Given the description of an element on the screen output the (x, y) to click on. 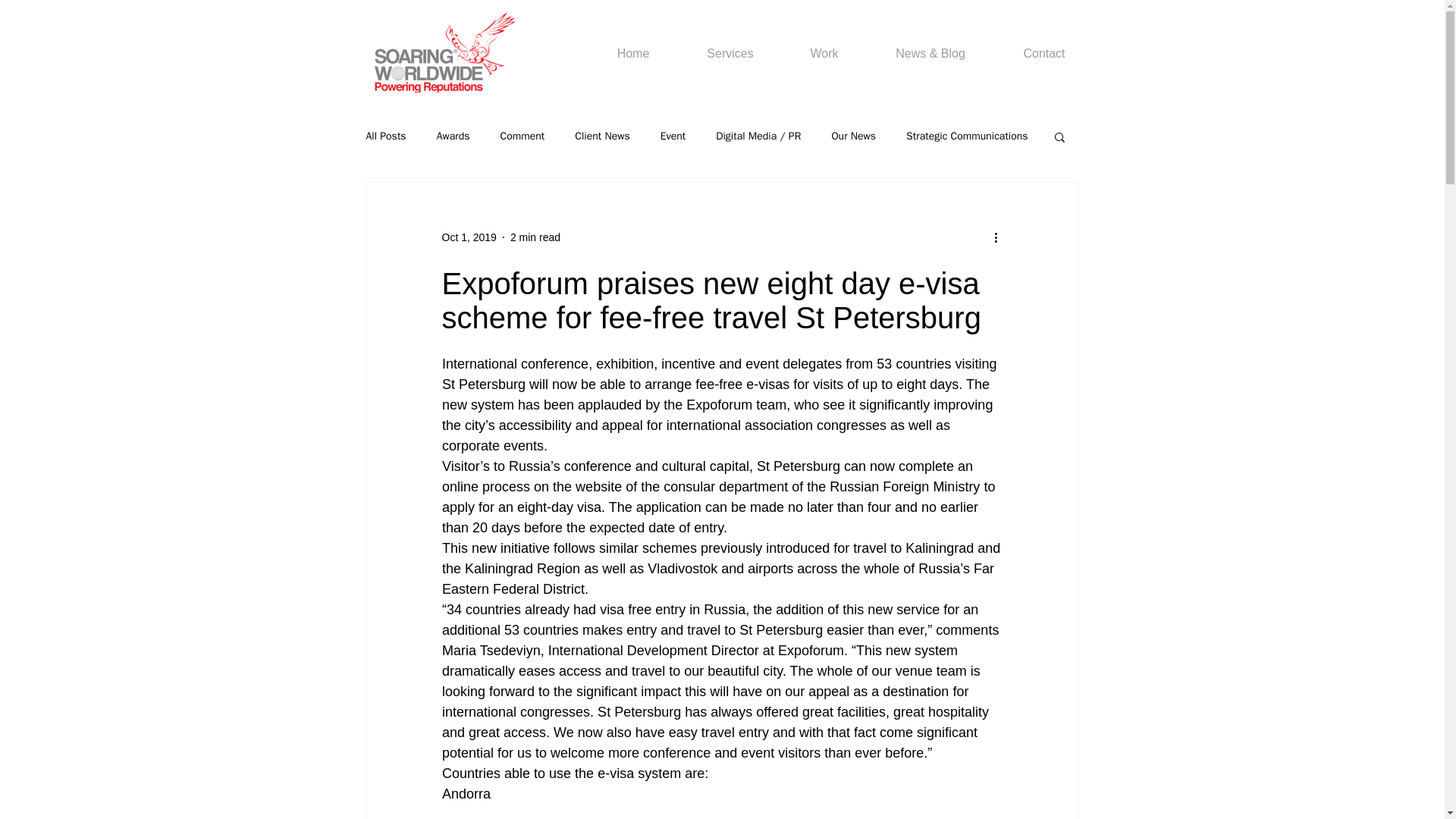
Contact (1044, 53)
Oct 1, 2019 (468, 236)
All Posts (385, 136)
Comment (522, 136)
Work (824, 53)
Our News (853, 136)
Client News (601, 136)
Strategic Communications (966, 136)
Home (633, 53)
2 min read (535, 236)
Awards (453, 136)
Services (729, 53)
Event (673, 136)
